Given the description of an element on the screen output the (x, y) to click on. 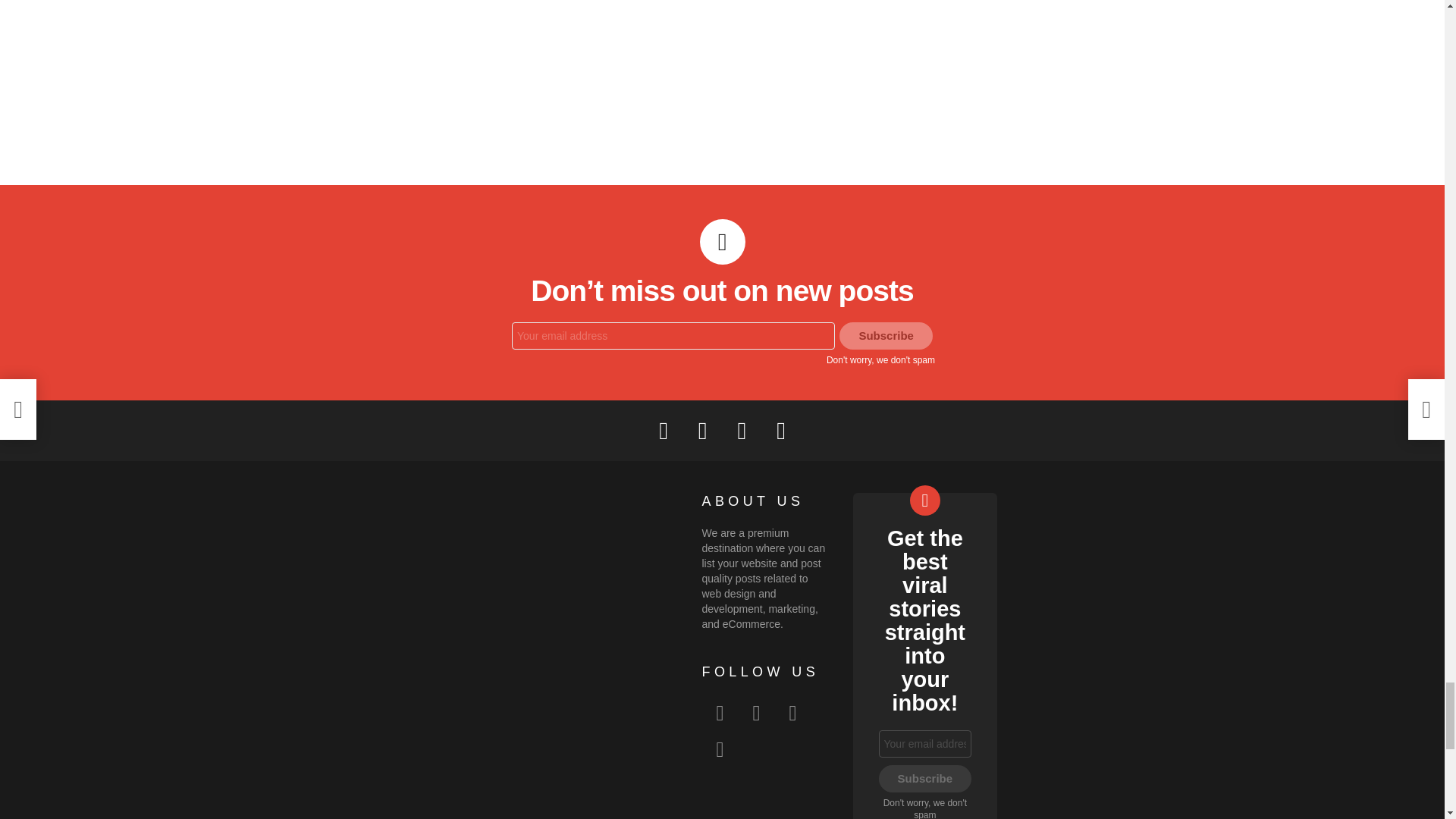
Subscribe (924, 778)
Subscribe (886, 335)
